Given the description of an element on the screen output the (x, y) to click on. 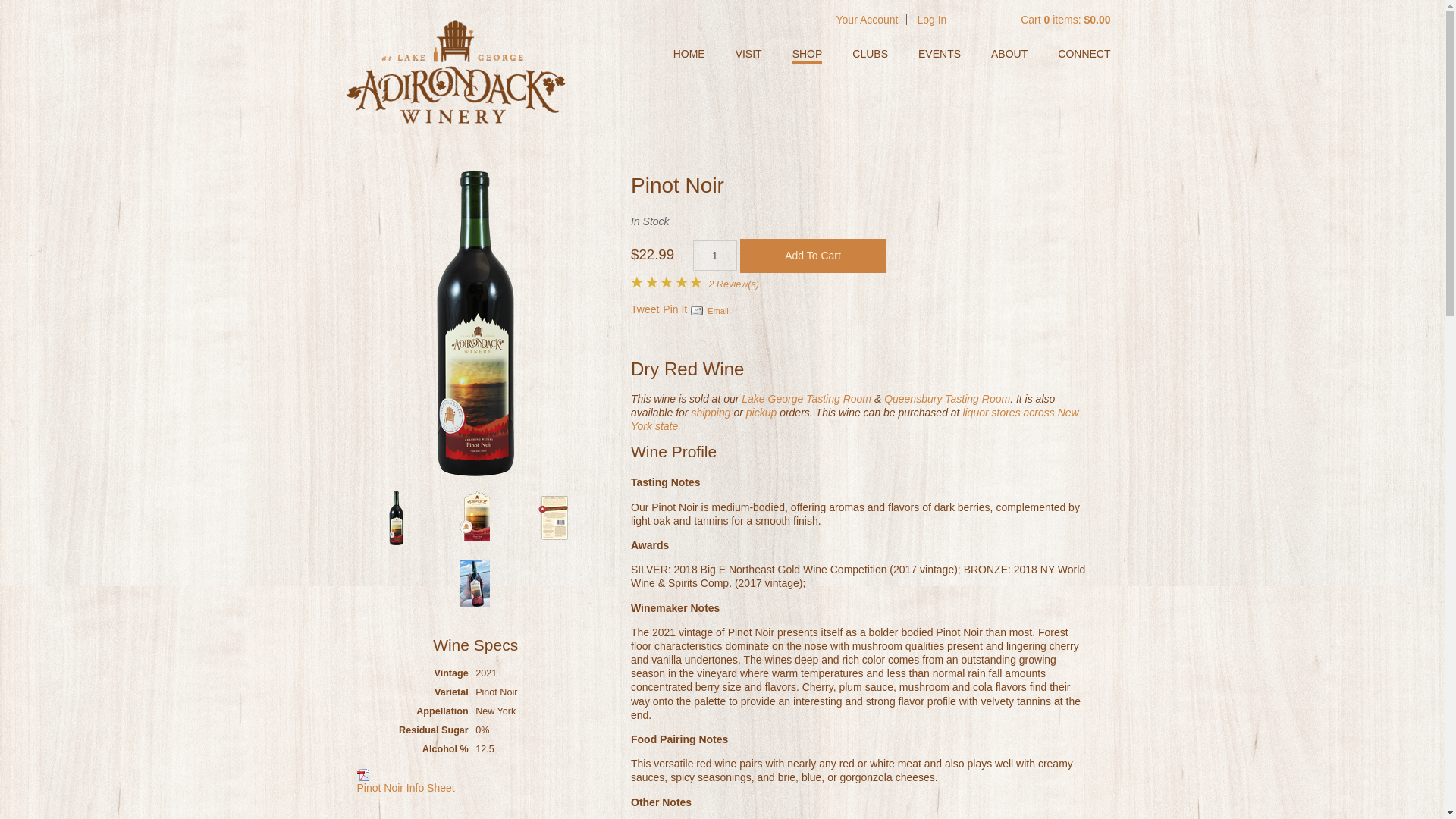
CLUBS (869, 51)
SHOP (807, 52)
Log In (931, 19)
1 (714, 255)
Your Account (866, 19)
Adirondack Winery (454, 72)
EVENTS (939, 51)
VISIT (748, 51)
ABOUT (1009, 51)
CONNECT (1083, 51)
HOME (688, 51)
